Given the description of an element on the screen output the (x, y) to click on. 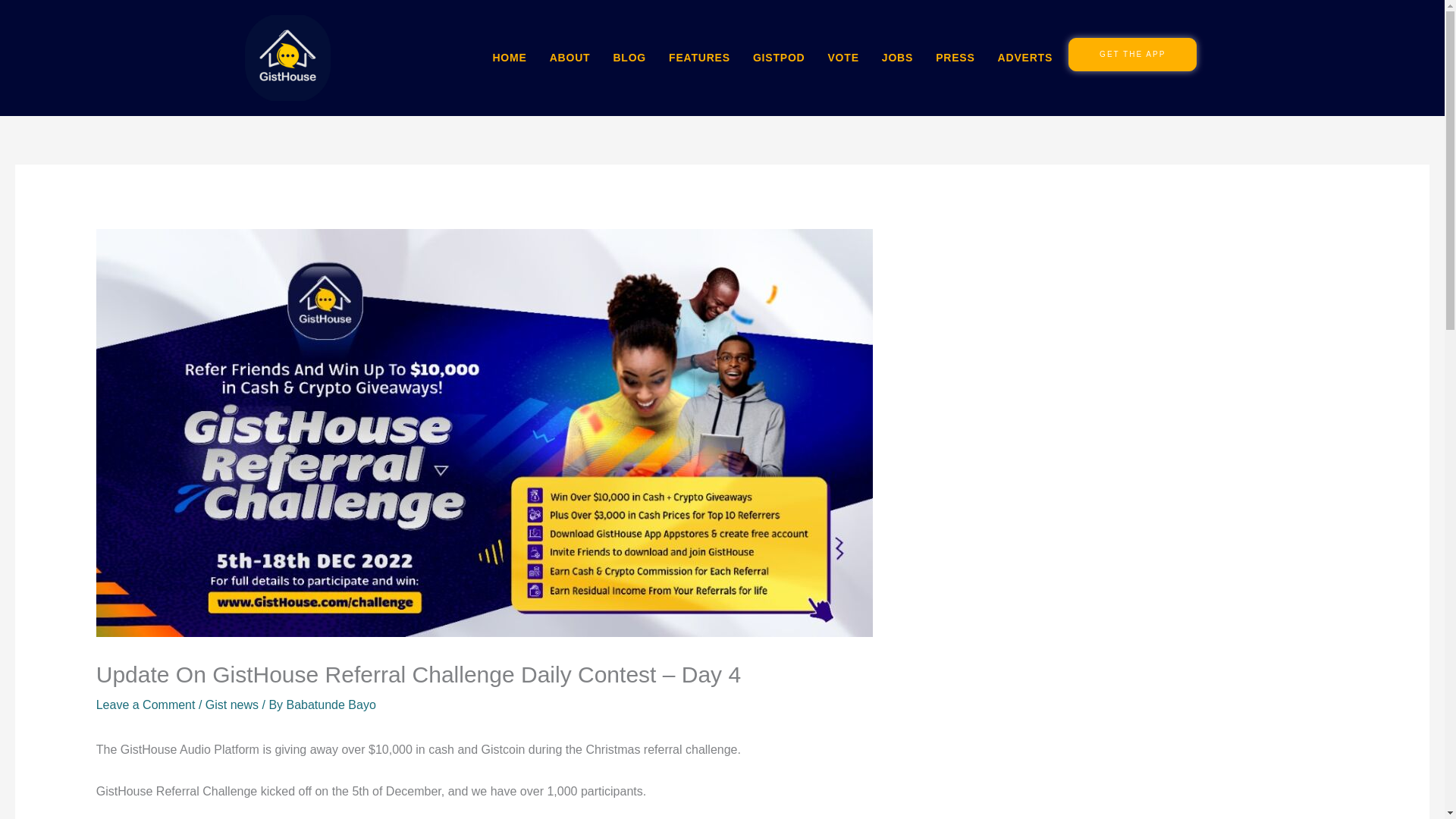
BLOG (629, 57)
ABOUT (570, 57)
FEATURES (699, 57)
GET THE APP (1132, 54)
Babatunde Bayo (330, 704)
HOME (508, 57)
Leave a Comment (145, 704)
Gist news (232, 704)
GISTPOD (778, 57)
JOBS (897, 57)
